Given the description of an element on the screen output the (x, y) to click on. 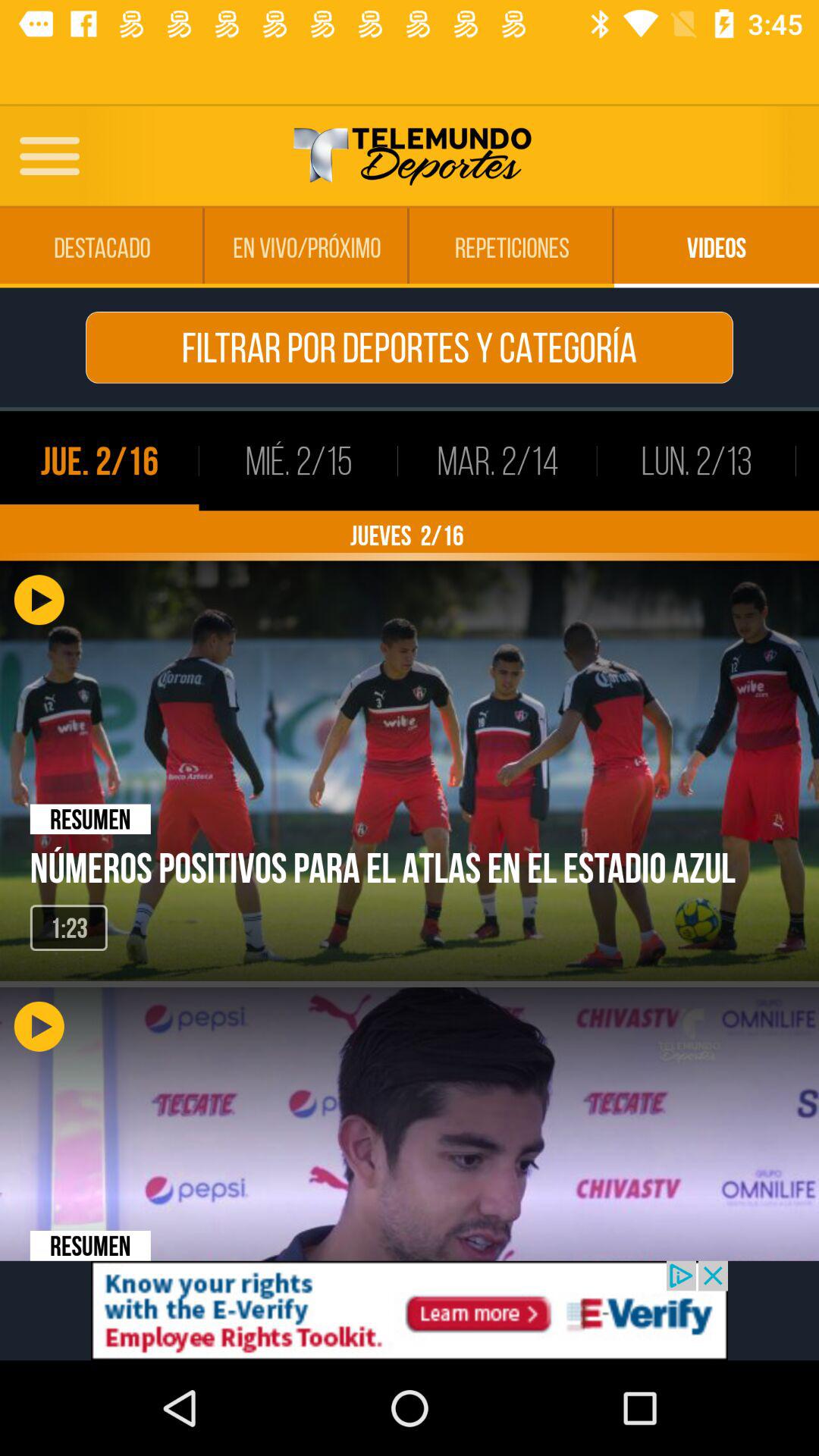
open advertisement (409, 1310)
